Given the description of an element on the screen output the (x, y) to click on. 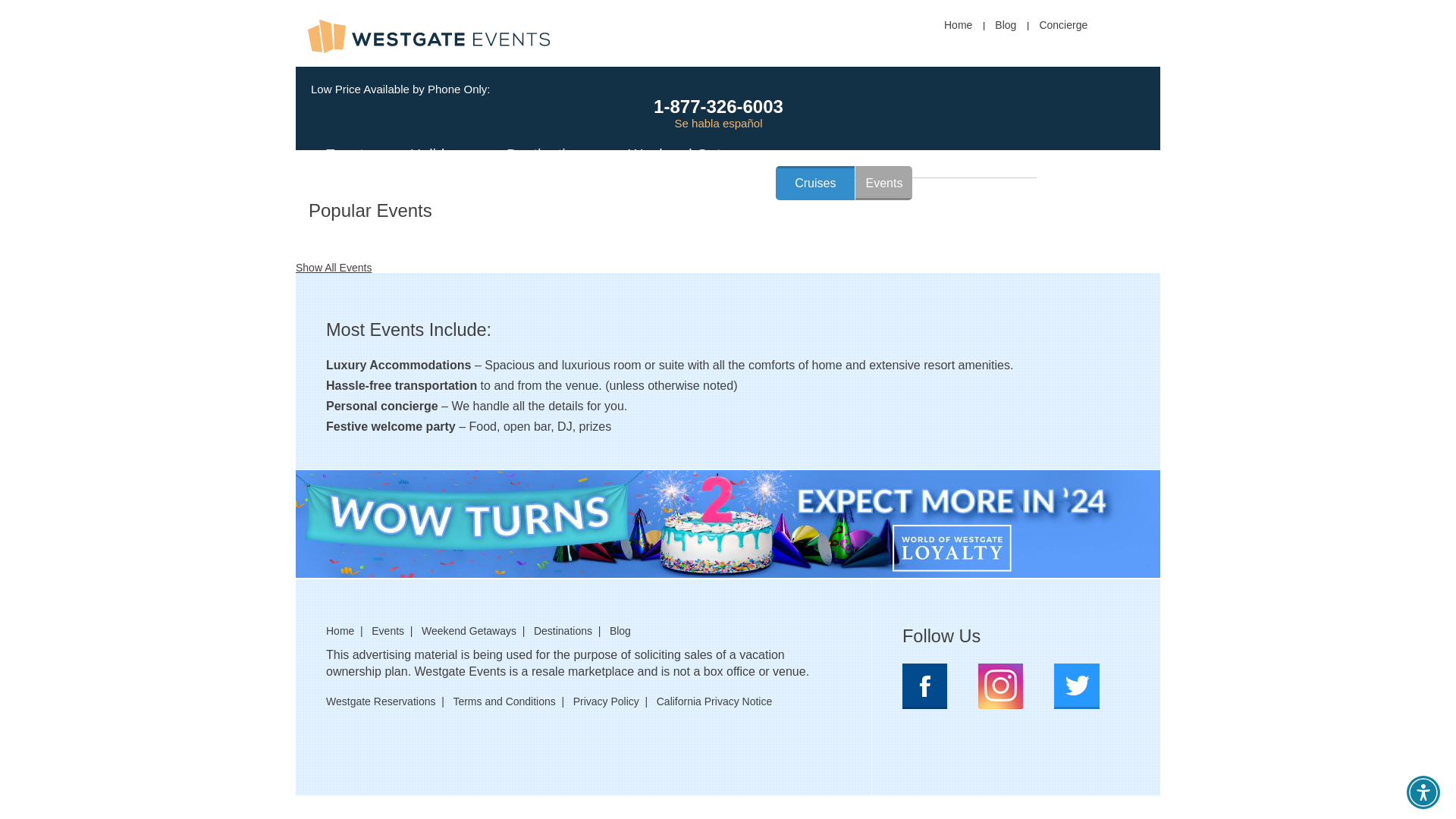
Events (354, 154)
1-877-326-6003 (718, 106)
Destinations (563, 630)
Blog (1005, 24)
Weekend Getaways (469, 630)
Weekend Getaways (696, 154)
Cruises (815, 182)
Home (339, 630)
Home (957, 24)
Events (884, 182)
Destinations (554, 154)
Events (387, 630)
Show All Events (333, 267)
Concierge (1063, 24)
Holidays (445, 154)
